Given the description of an element on the screen output the (x, y) to click on. 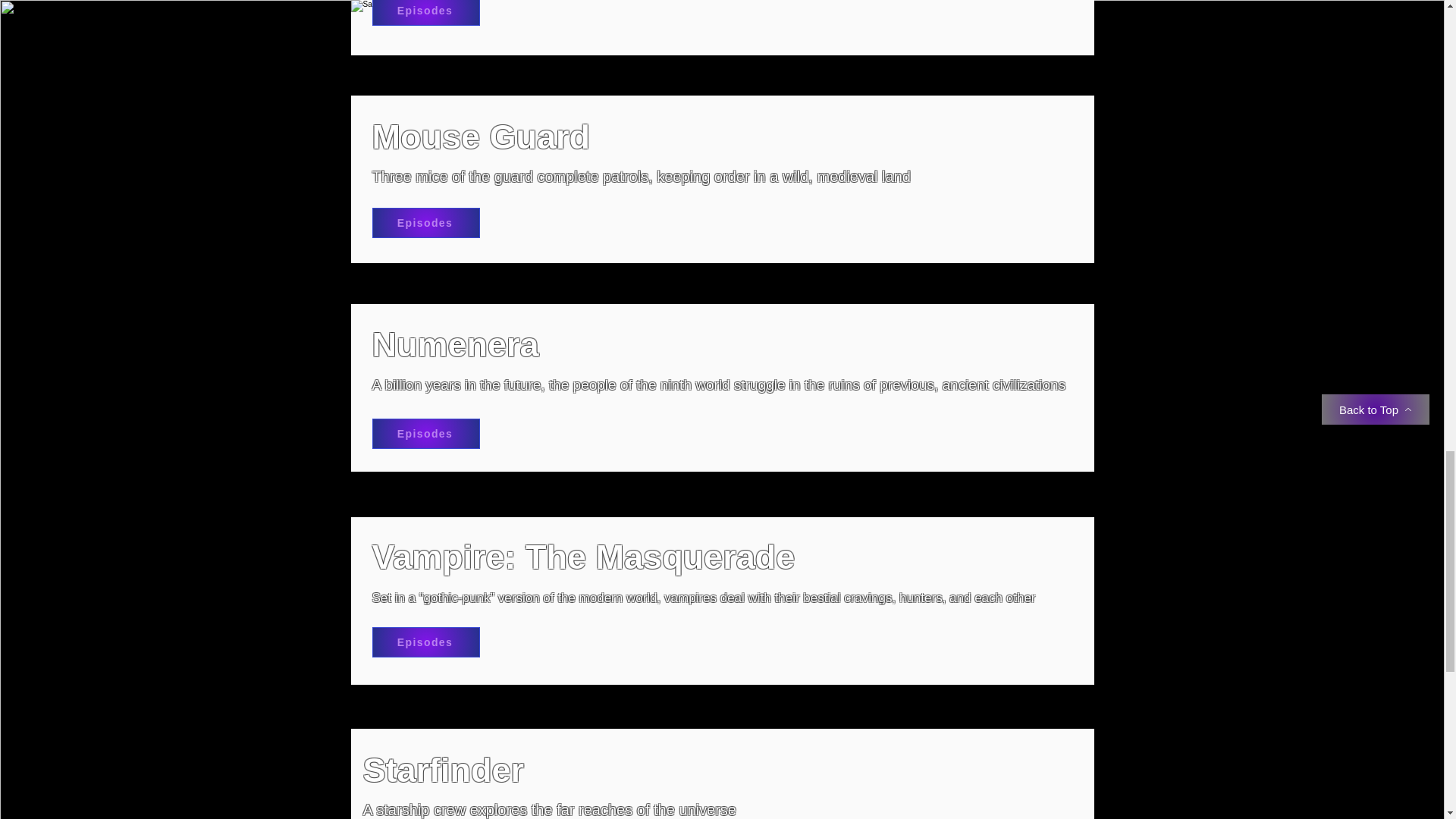
Episodes (425, 12)
Episodes (425, 223)
Episodes (425, 433)
Episodes (425, 642)
